Given the description of an element on the screen output the (x, y) to click on. 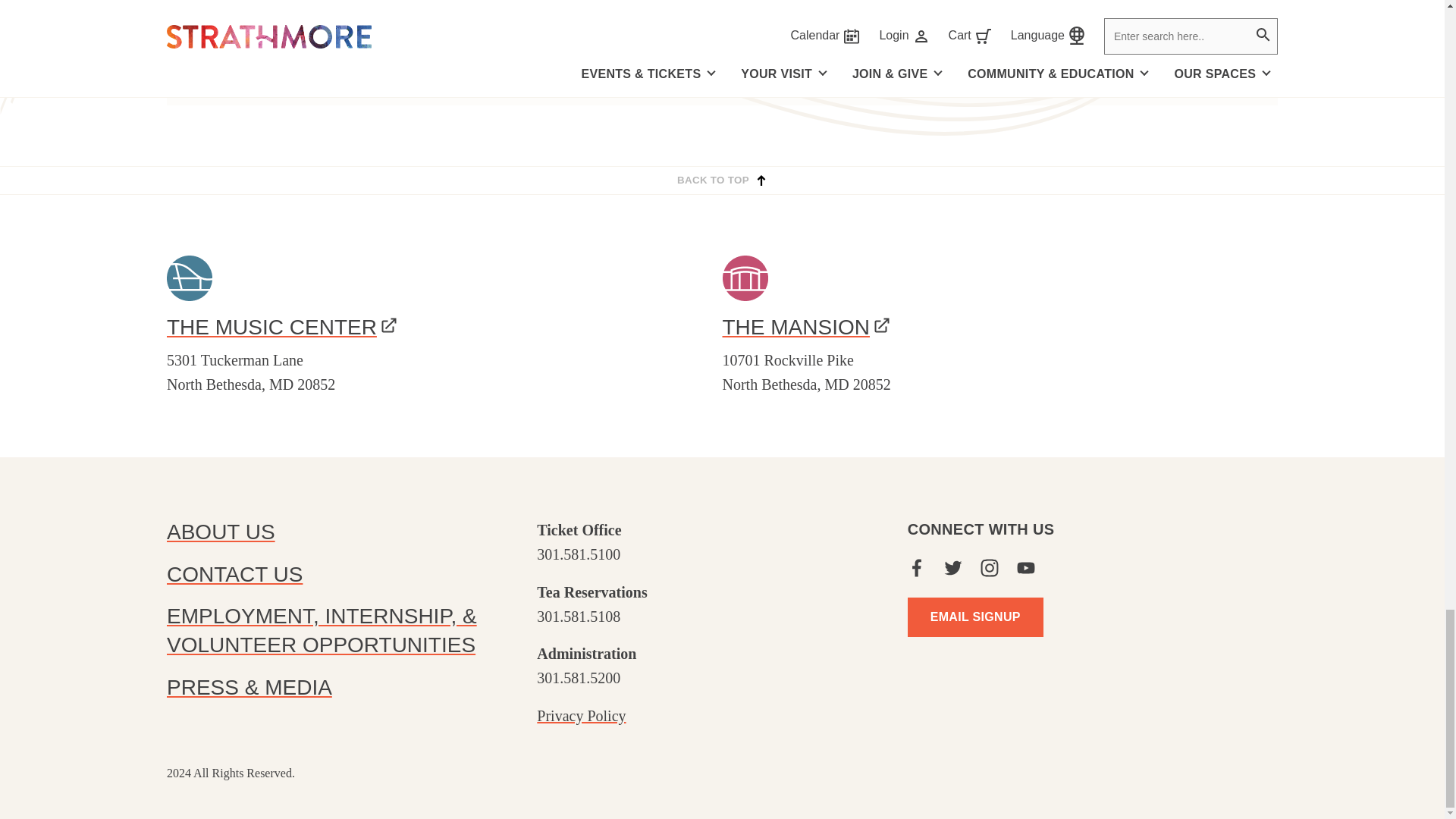
Privacy Policy (581, 715)
